Given the description of an element on the screen output the (x, y) to click on. 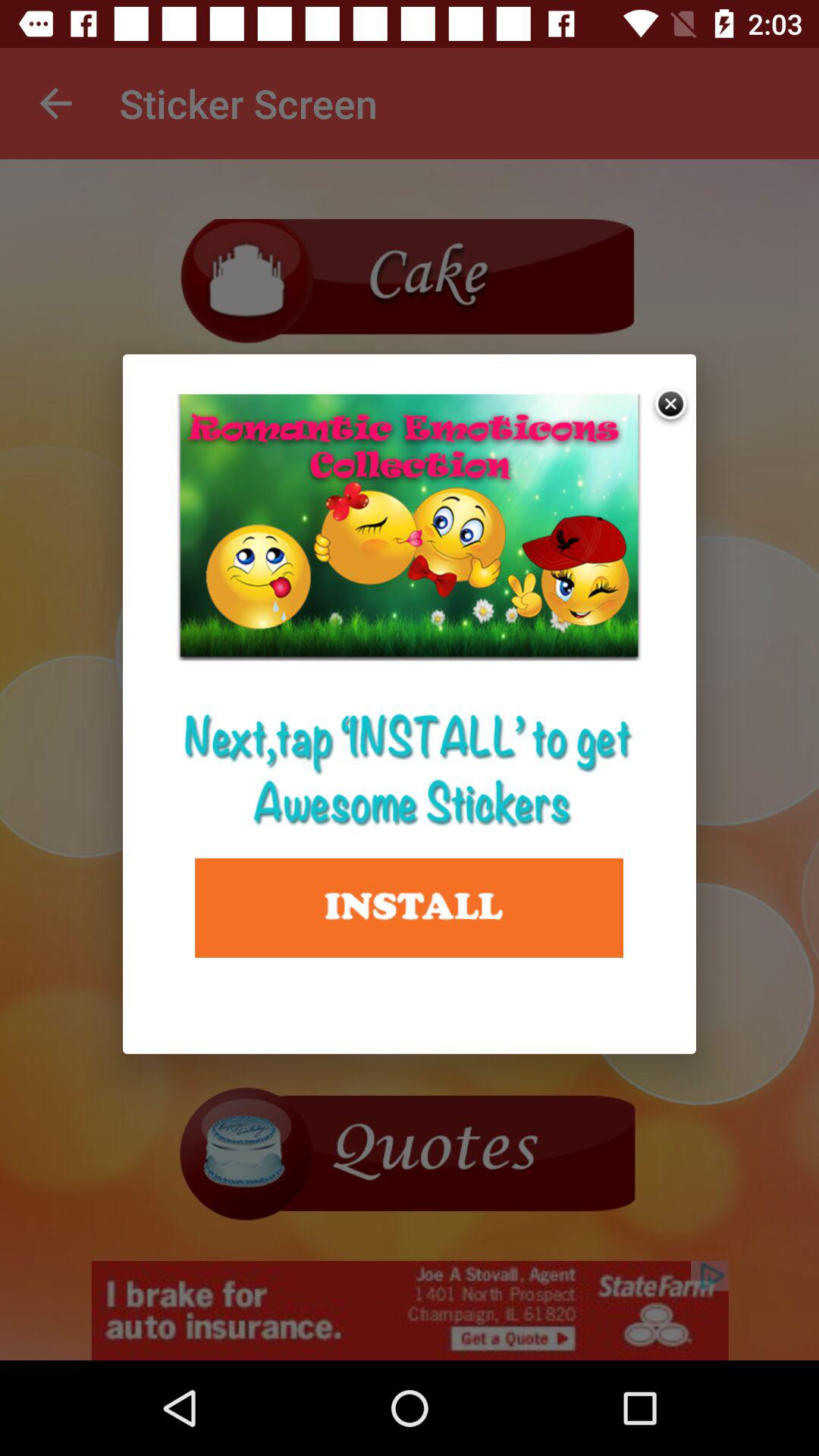
select install option (409, 907)
